Given the description of an element on the screen output the (x, y) to click on. 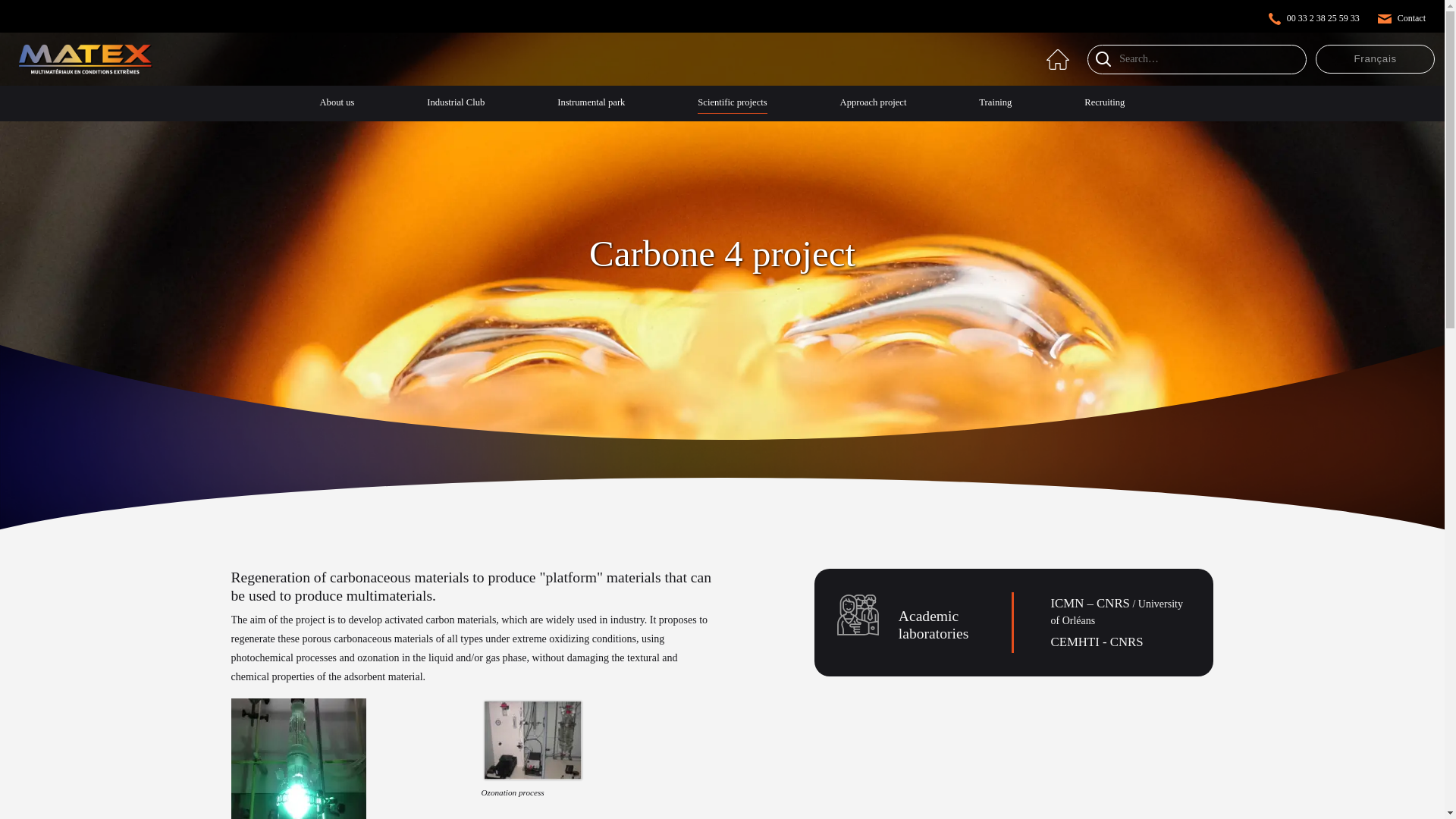
Home page (1057, 58)
About us (337, 104)
Approach project (873, 104)
Instrumental park (590, 104)
About us (337, 104)
Instrumental park (590, 104)
Recruiting (1104, 104)
Industrial Club (455, 104)
Scientific projects (732, 104)
Scientific projects (732, 104)
